Given the description of an element on the screen output the (x, y) to click on. 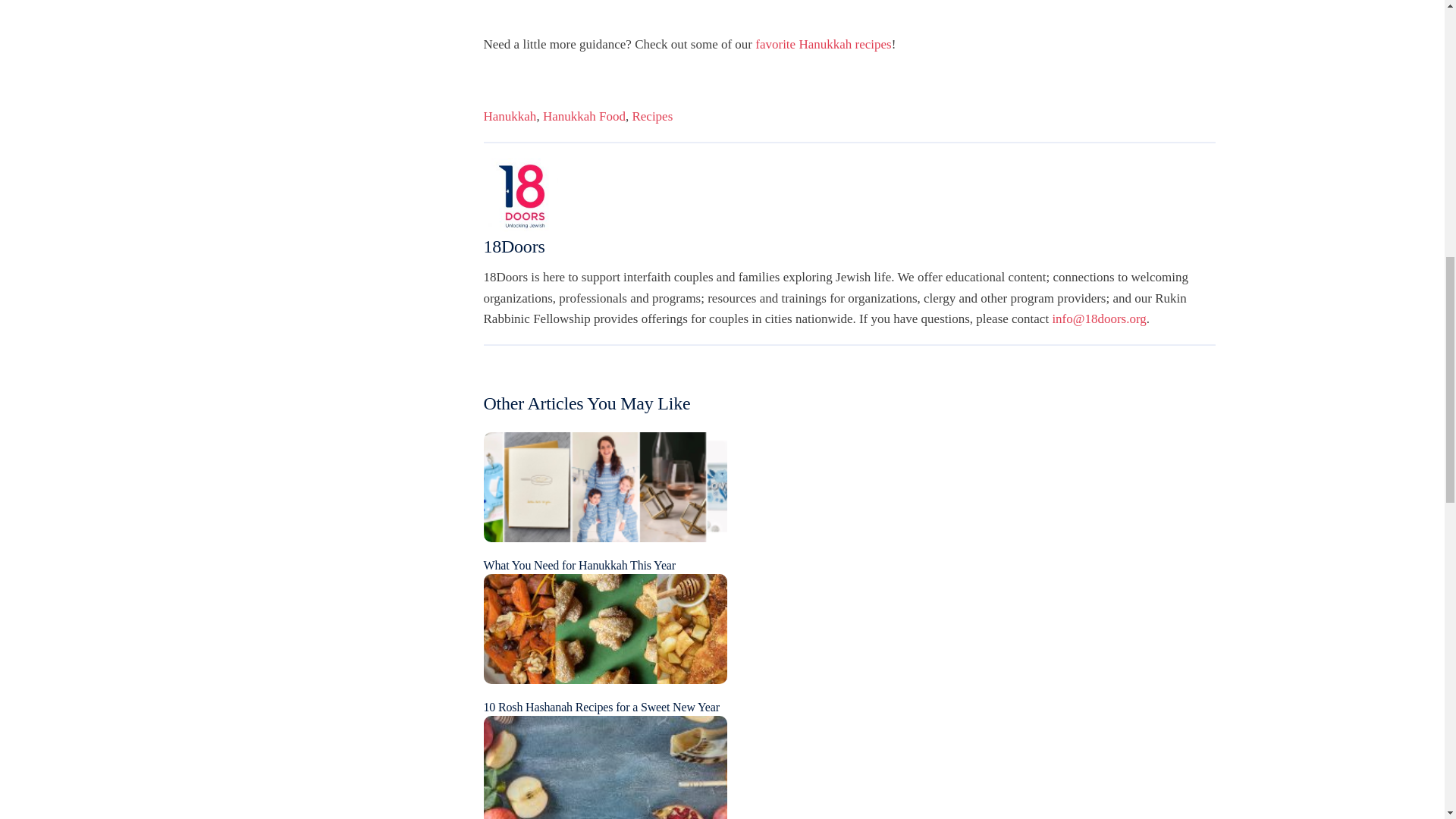
What You Need for Hanukkah This Year (605, 485)
10 Rosh Hashanah Recipes for a Sweet New Year (605, 626)
What You Need for Hanukkah This Year (579, 564)
10 Rosh Hashanah Recipes for a Sweet New Year (601, 707)
Sign Up for Jewish Holiday Email Series (605, 769)
